Given the description of an element on the screen output the (x, y) to click on. 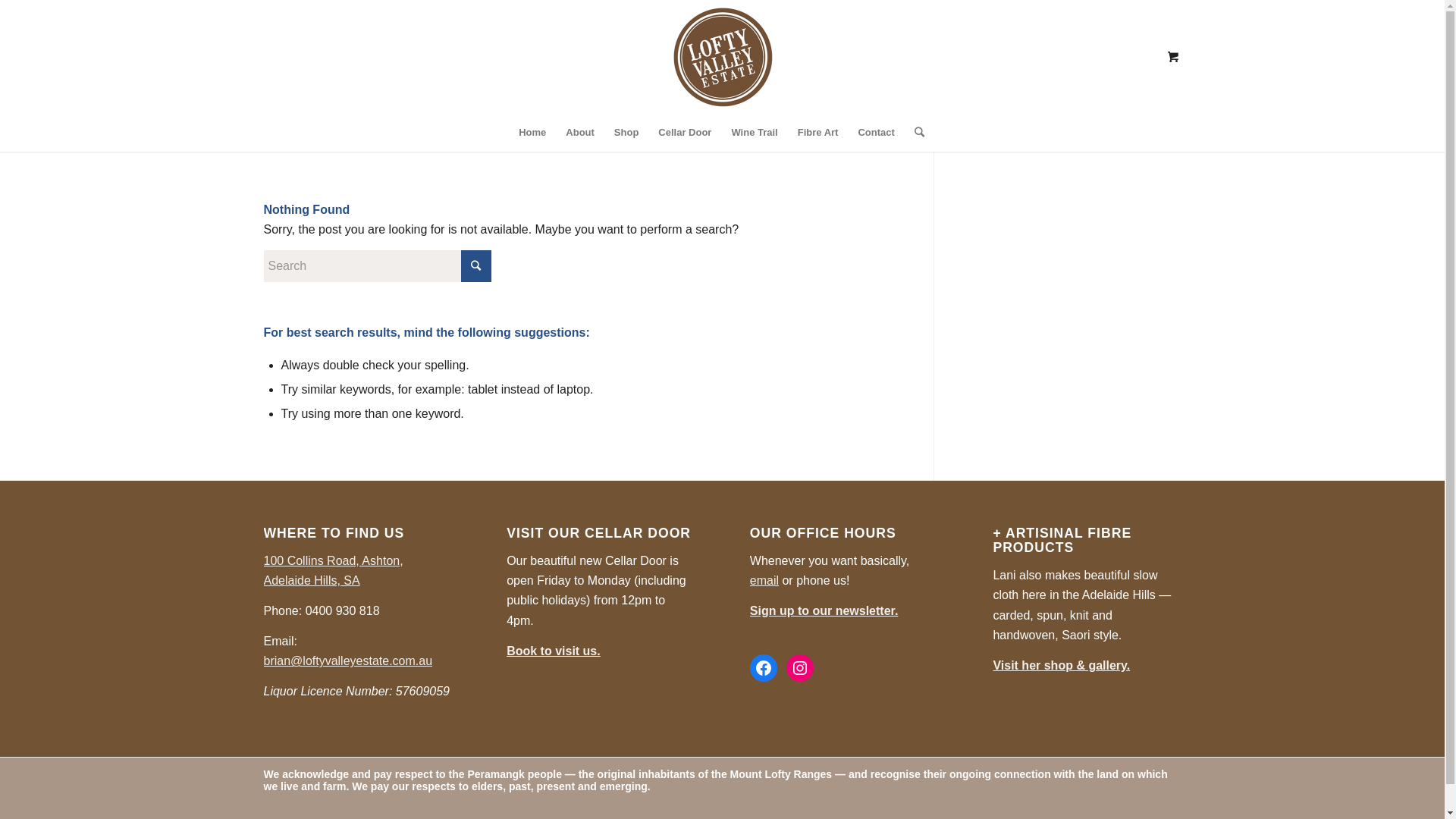
Cellar Door Element type: text (684, 132)
Home Element type: text (531, 132)
Wine Trail Element type: text (754, 132)
About Element type: text (579, 132)
Fibre Art Element type: text (817, 132)
Sign up to our newsletter. Element type: text (823, 610)
brian@loftyvalleyestate.com.au Element type: text (348, 660)
email Element type: text (763, 580)
Visit her shop & gallery. Element type: text (1060, 664)
Shop Element type: text (626, 132)
Book to visit us. Element type: text (553, 650)
Contact Element type: text (875, 132)
100 Collins Road, Ashton, Adelaide Hills, SA Element type: text (333, 570)
